Given the description of an element on the screen output the (x, y) to click on. 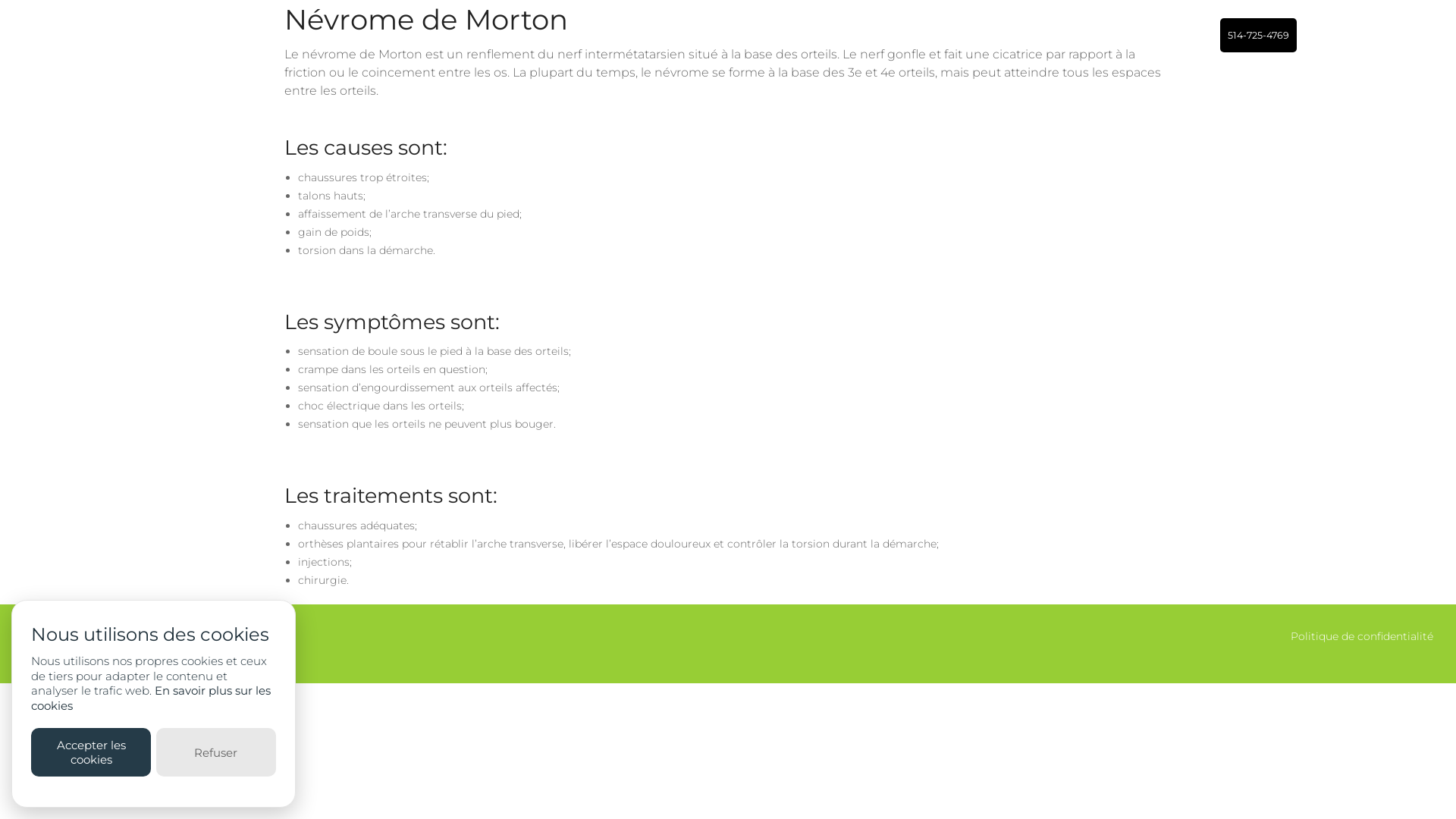
SERVICES Element type: text (1099, 35)
ENGLISH Element type: text (1331, 35)
514-725-4769 Element type: text (1258, 35)
CONTACT Element type: text (1182, 35)
SOINS DES PIEDS Element type: text (1099, 137)
Refuser Element type: text (216, 752)
Accepter les cookies Element type: text (90, 752)
ACCUEIL Element type: text (865, 35)
En savoir plus sur les cookies Element type: text (150, 697)
ITALIANO Element type: text (1403, 35)
Home Element type: hover (132, 35)
